Given the description of an element on the screen output the (x, y) to click on. 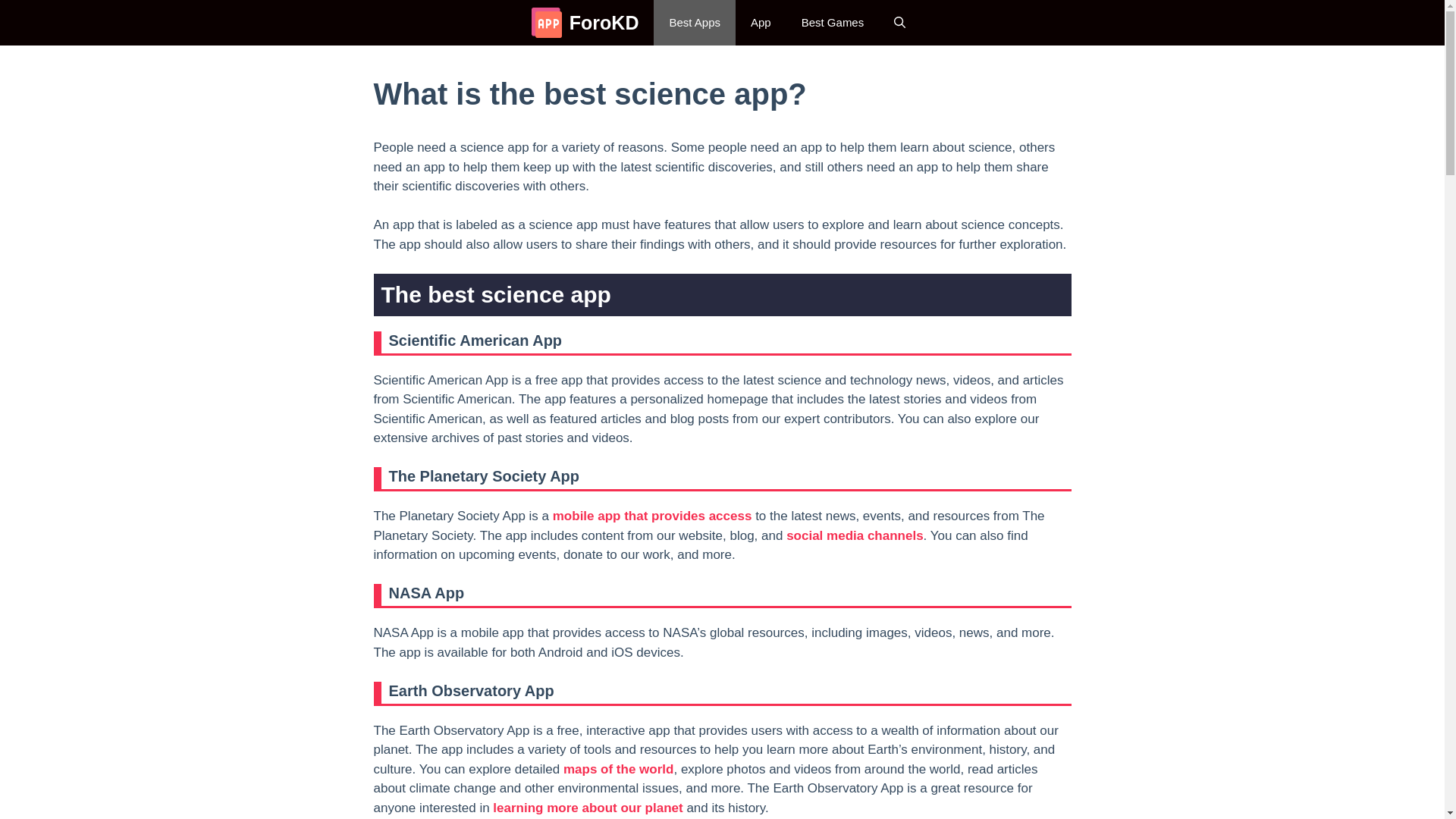
social media channels (854, 534)
ForoKD (604, 22)
Best Games (832, 22)
mobile app that provides access (652, 515)
App (760, 22)
maps of the world (617, 768)
learning more about our planet (587, 807)
Best Apps (694, 22)
